Given the description of an element on the screen output the (x, y) to click on. 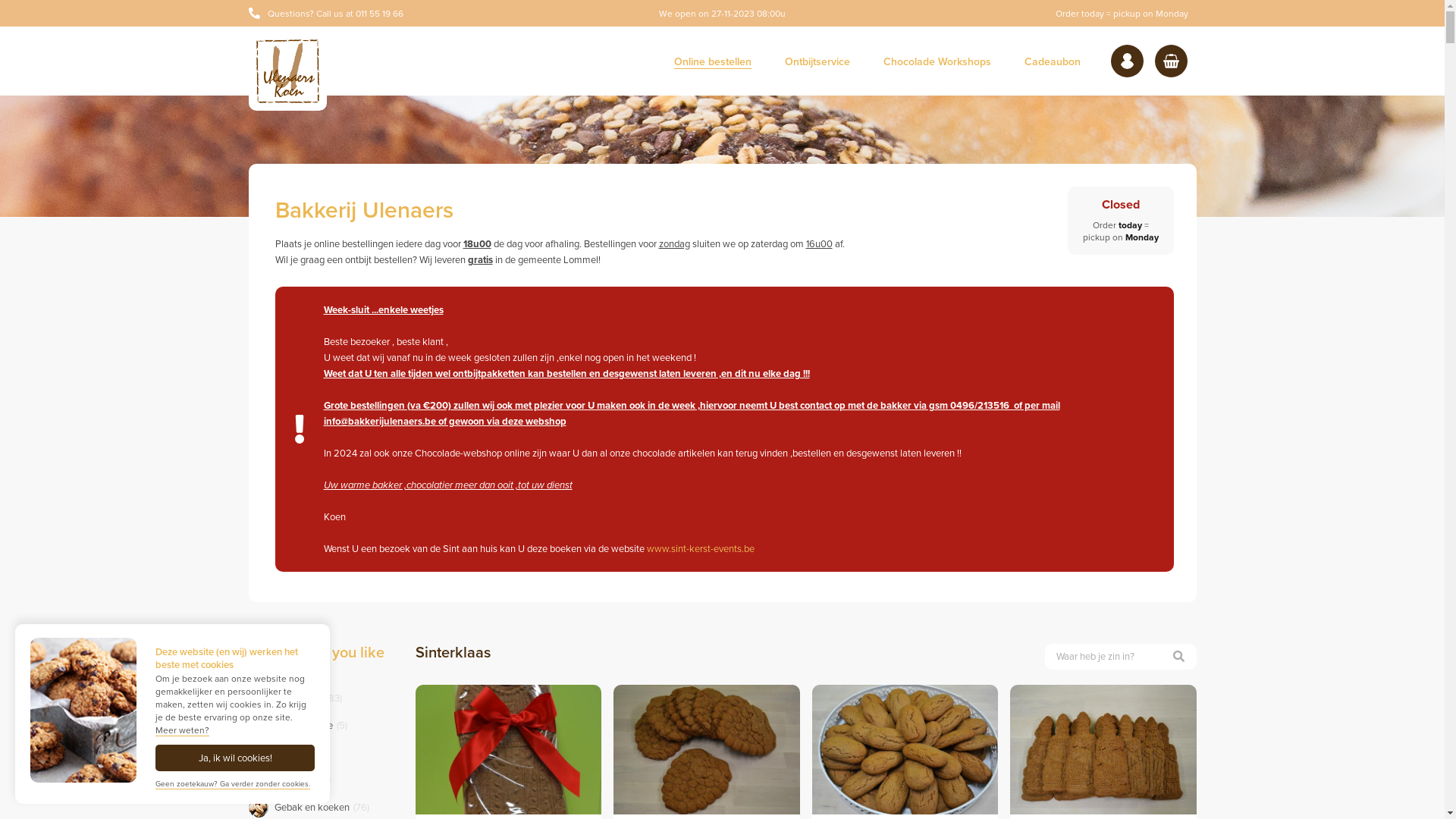
Cadeaubon Element type: text (1051, 61)
Questions? Call us at 011 55 19 66 Element type: text (325, 12)
Geen zoetekauw? Ga verder zonder cookies. Element type: text (232, 783)
Chocolade Workshops Element type: text (936, 61)
Sinterklaas (83) Element type: text (308, 698)
Online bestellen Element type: text (711, 61)
Ja, ik wil cookies! Element type: text (234, 757)
Ontbijtservice (5) Element type: text (310, 725)
Brood (34) Element type: text (296, 752)
www.sint-kerst-events.be Element type: text (699, 548)
Ontbijtservice Element type: text (816, 61)
Gebak en koeken (76) Element type: text (321, 807)
Meer weten? Element type: text (182, 730)
Broodjes (43) Element type: text (302, 780)
